Given the description of an element on the screen output the (x, y) to click on. 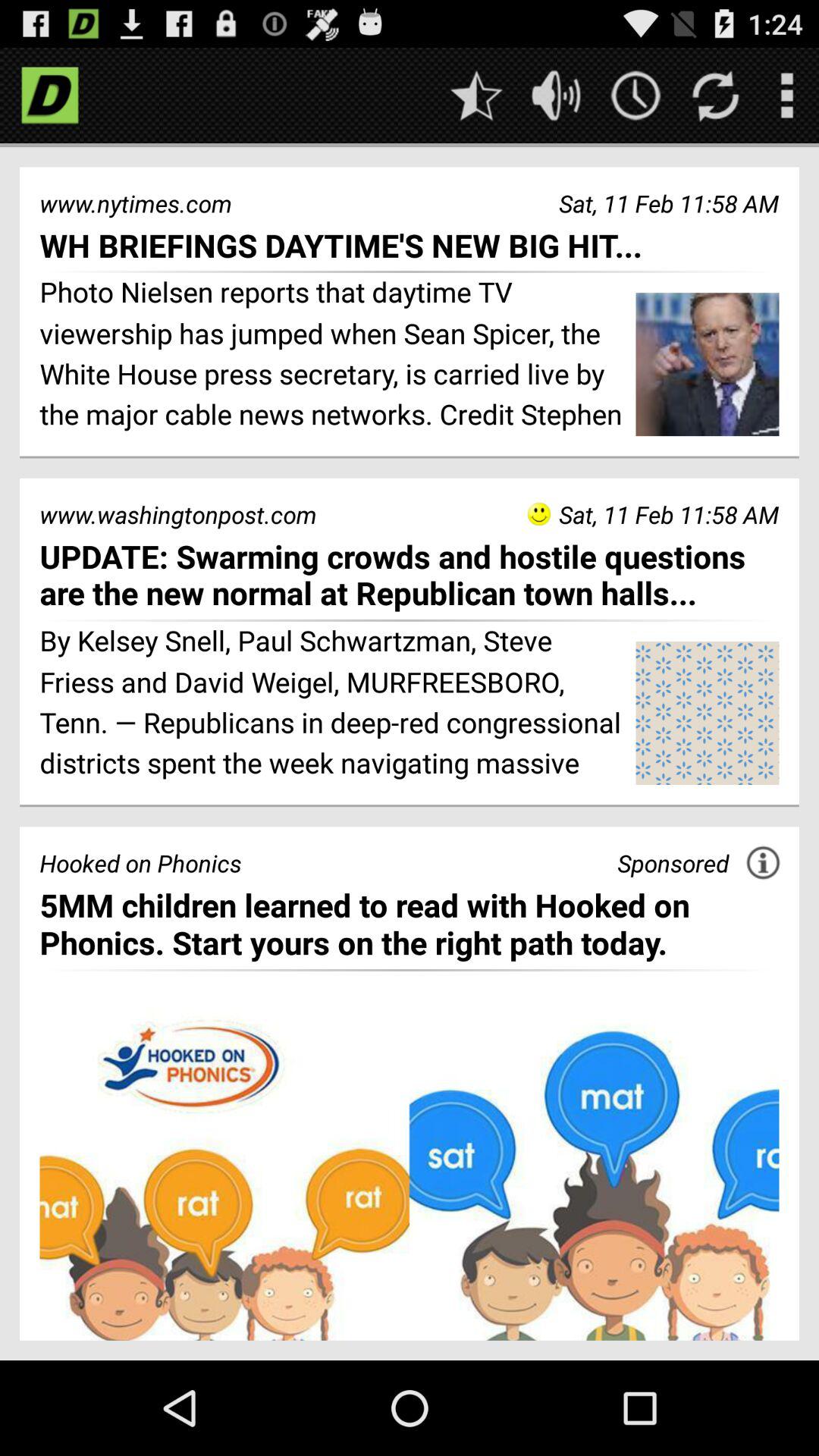
jump to wh briefings daytime icon (409, 244)
